Given the description of an element on the screen output the (x, y) to click on. 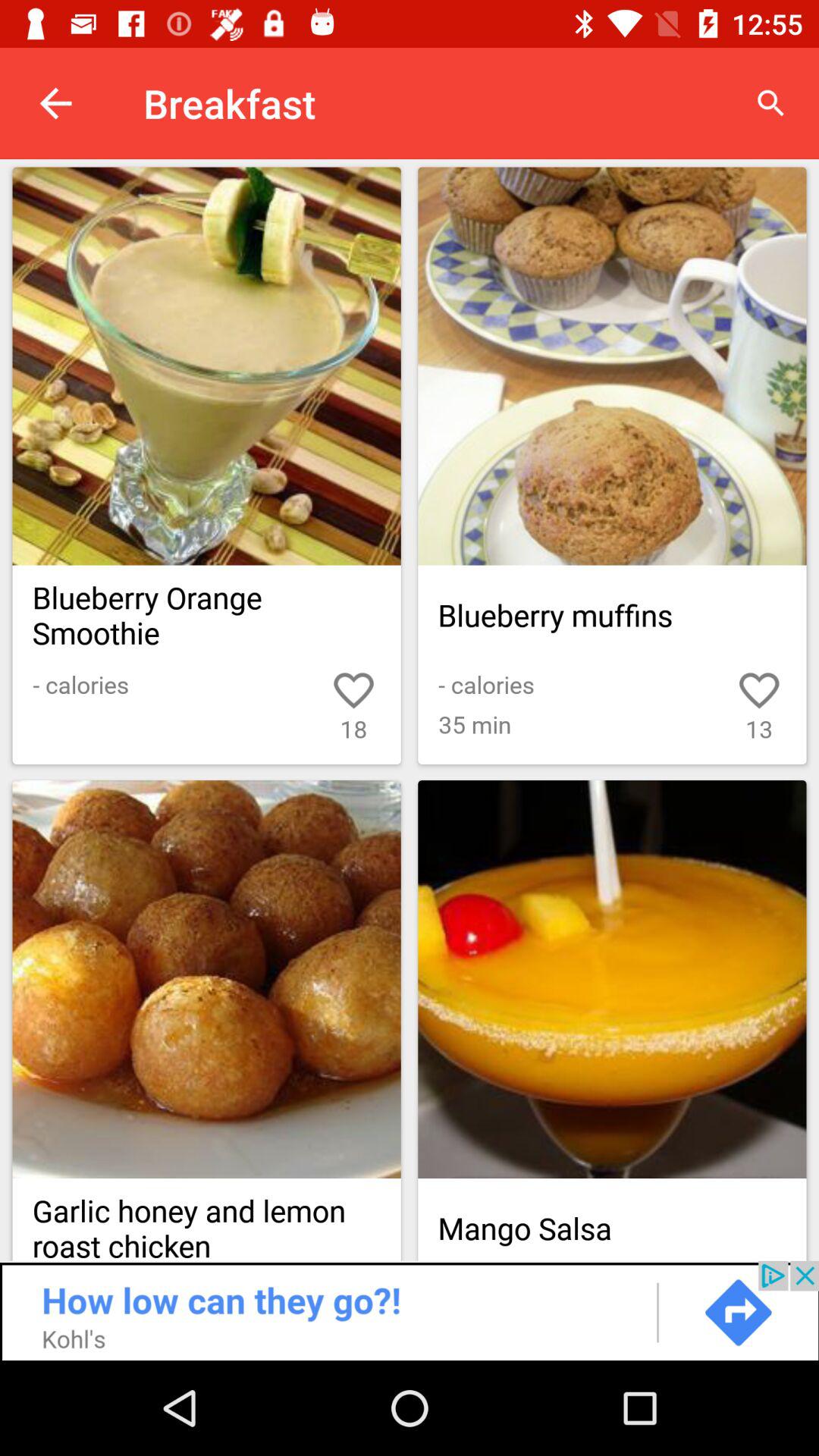
garlic honey and lemon roast chicken (206, 979)
